Given the description of an element on the screen output the (x, y) to click on. 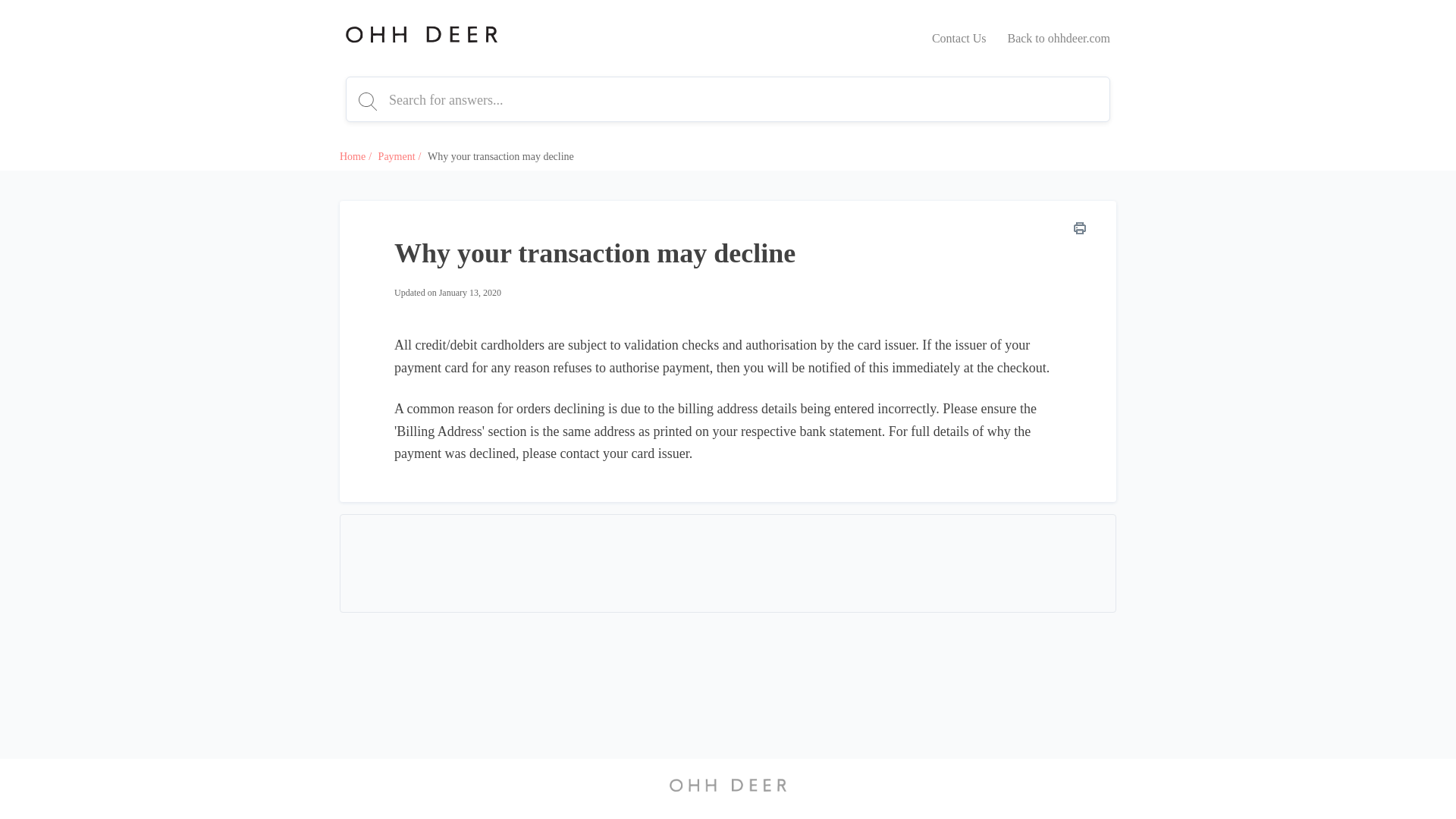
Payment (396, 156)
Back to ohhdeer.com (1058, 38)
Contact Us (959, 38)
Home (352, 156)
